Given the description of an element on the screen output the (x, y) to click on. 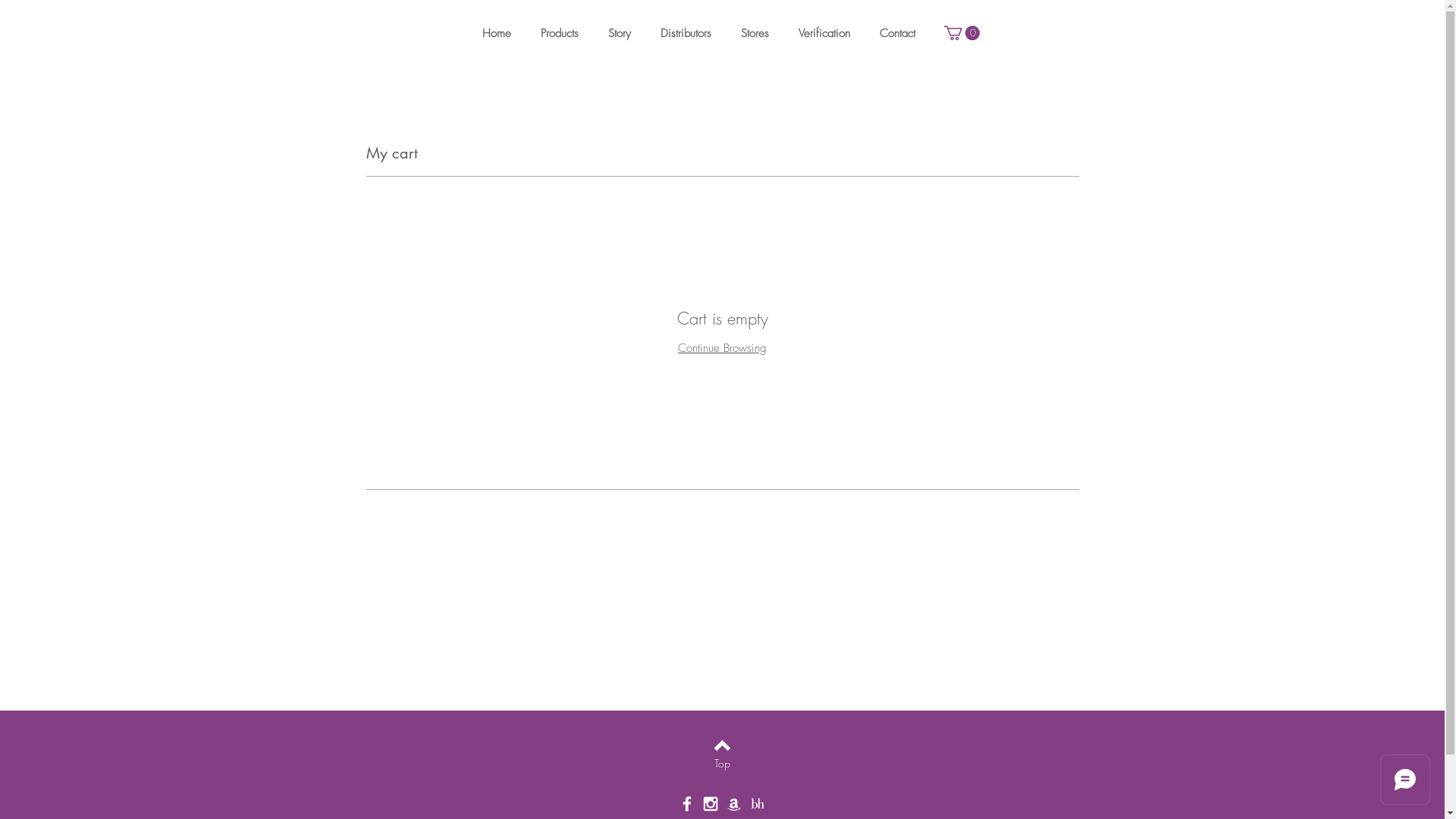
Products Element type: text (561, 33)
Contact Element type: text (900, 33)
Stores Element type: text (757, 33)
Home Element type: text (499, 33)
Continue Browsing Element type: text (721, 347)
Top Element type: text (721, 763)
0 Element type: text (961, 32)
Distributors Element type: text (688, 33)
Verification Element type: text (826, 33)
Story Element type: text (622, 33)
